Given the description of an element on the screen output the (x, y) to click on. 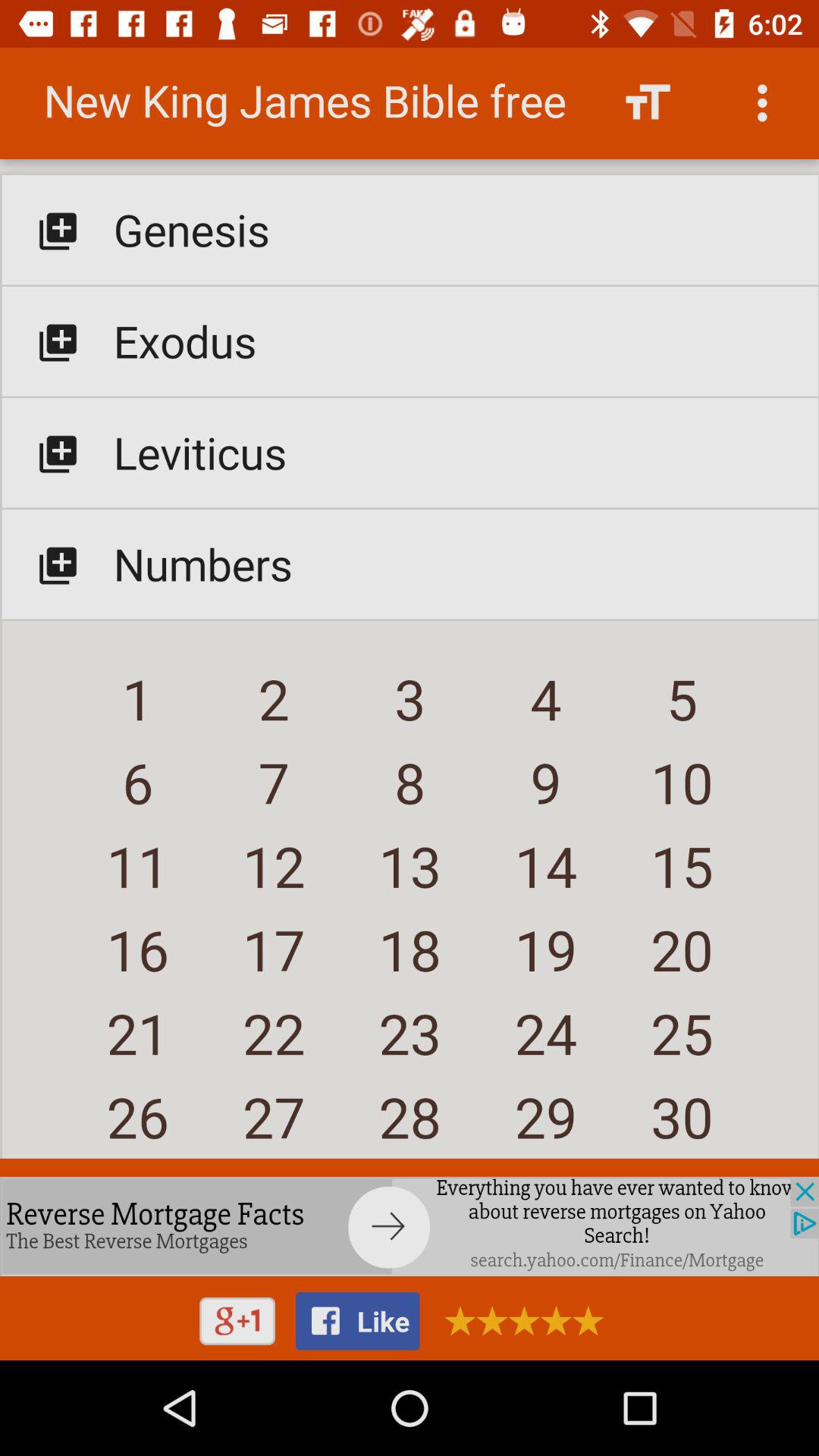
adventisment page (409, 1226)
